Given the description of an element on the screen output the (x, y) to click on. 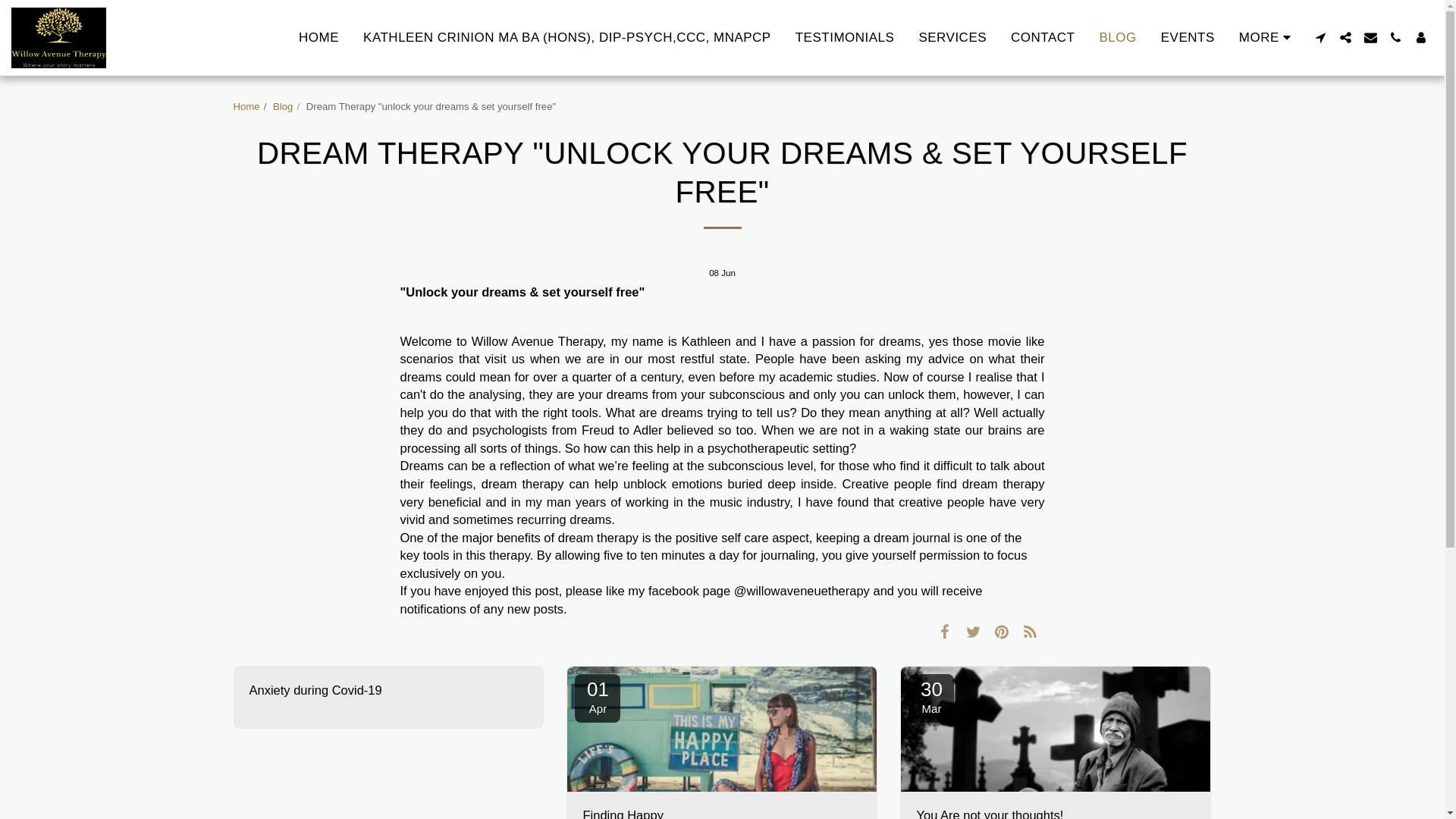
CONTACT (1042, 36)
BLOG (1117, 36)
Share on Facebook (945, 631)
RSS (1029, 631)
EVENTS (1187, 36)
Tweet (973, 631)
HOME (318, 36)
TESTIMONIALS (844, 36)
SERVICES (952, 36)
Pin it (1002, 631)
